Given the description of an element on the screen output the (x, y) to click on. 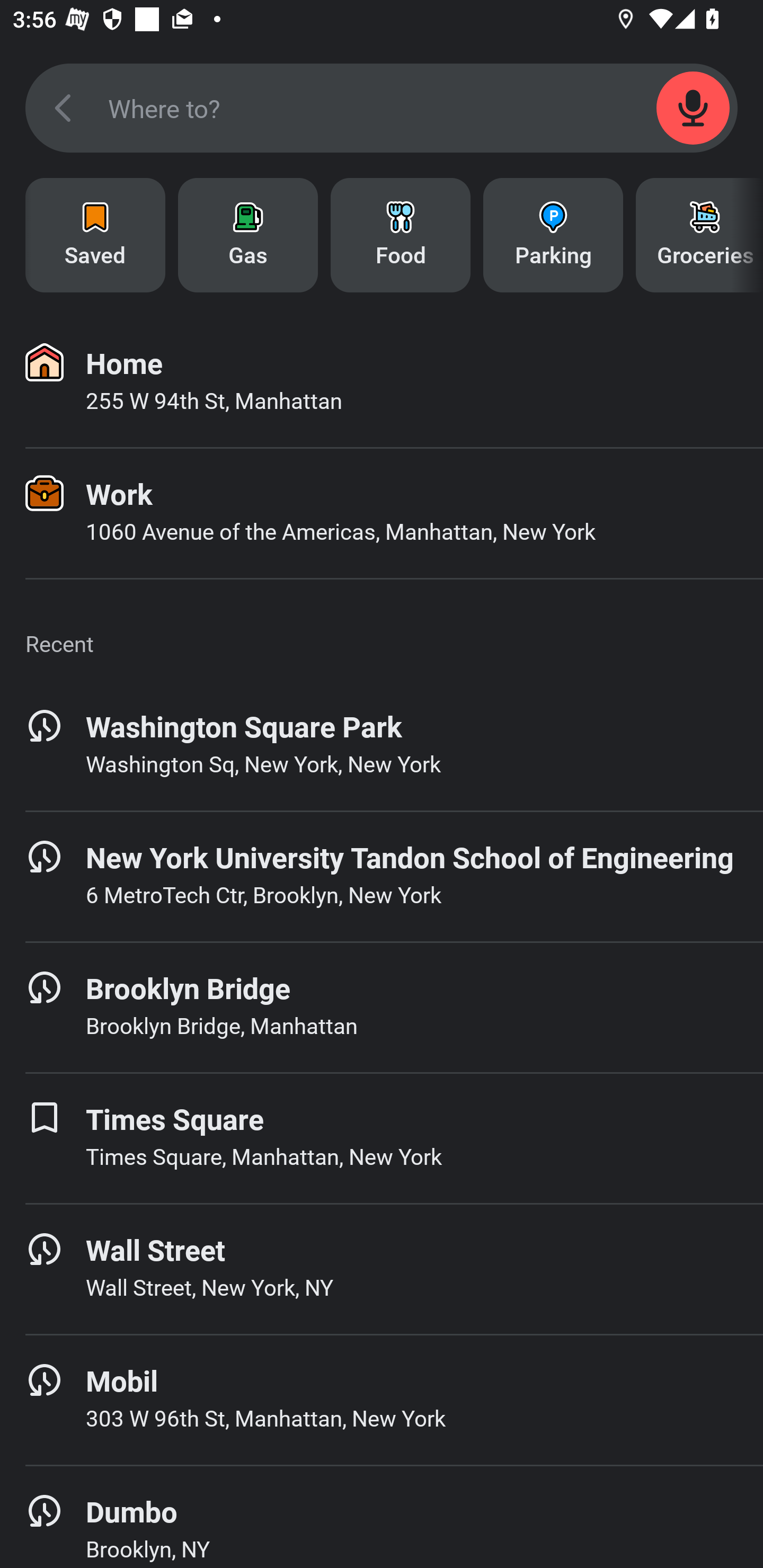
SEARCH_SCREEN_SEARCH_FIELD Where to? (381, 108)
Saved (95, 234)
Gas (247, 234)
Food (400, 234)
Parking (552, 234)
Groceries (699, 234)
Home 255 W 94th St, Manhattan (381, 382)
Brooklyn Bridge Brooklyn Bridge, Manhattan (381, 1007)
Times Square Times Square, Manhattan, New York (381, 1138)
Wall Street Wall Street, New York, NY (381, 1269)
Mobil 303 W 96th St, Manhattan, New York (381, 1399)
Dumbo Brooklyn, NY (381, 1517)
